Given the description of an element on the screen output the (x, y) to click on. 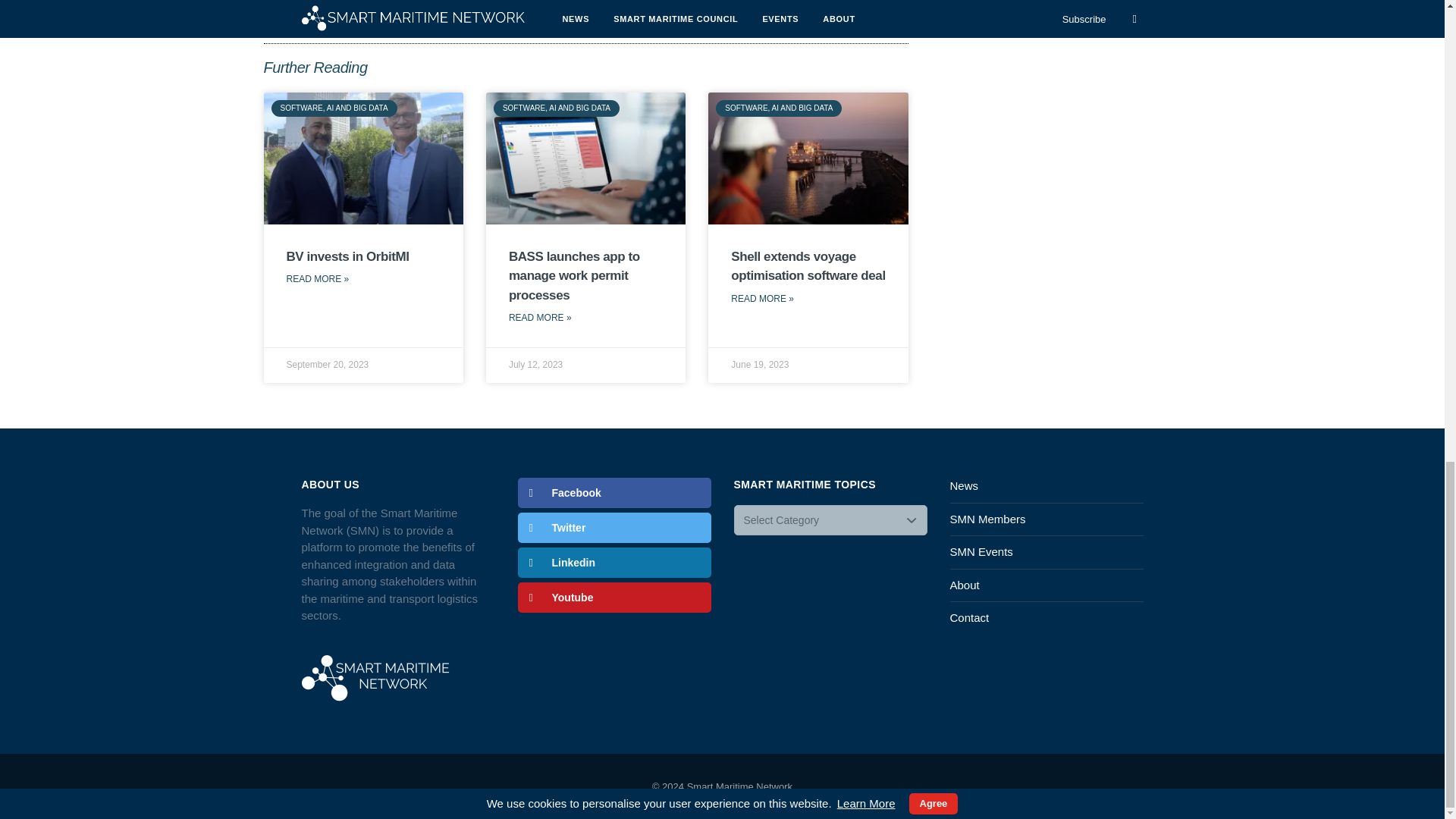
Linkedin (613, 562)
Youtube (613, 597)
Twitter (613, 527)
Facebook (613, 492)
